Given the description of an element on the screen output the (x, y) to click on. 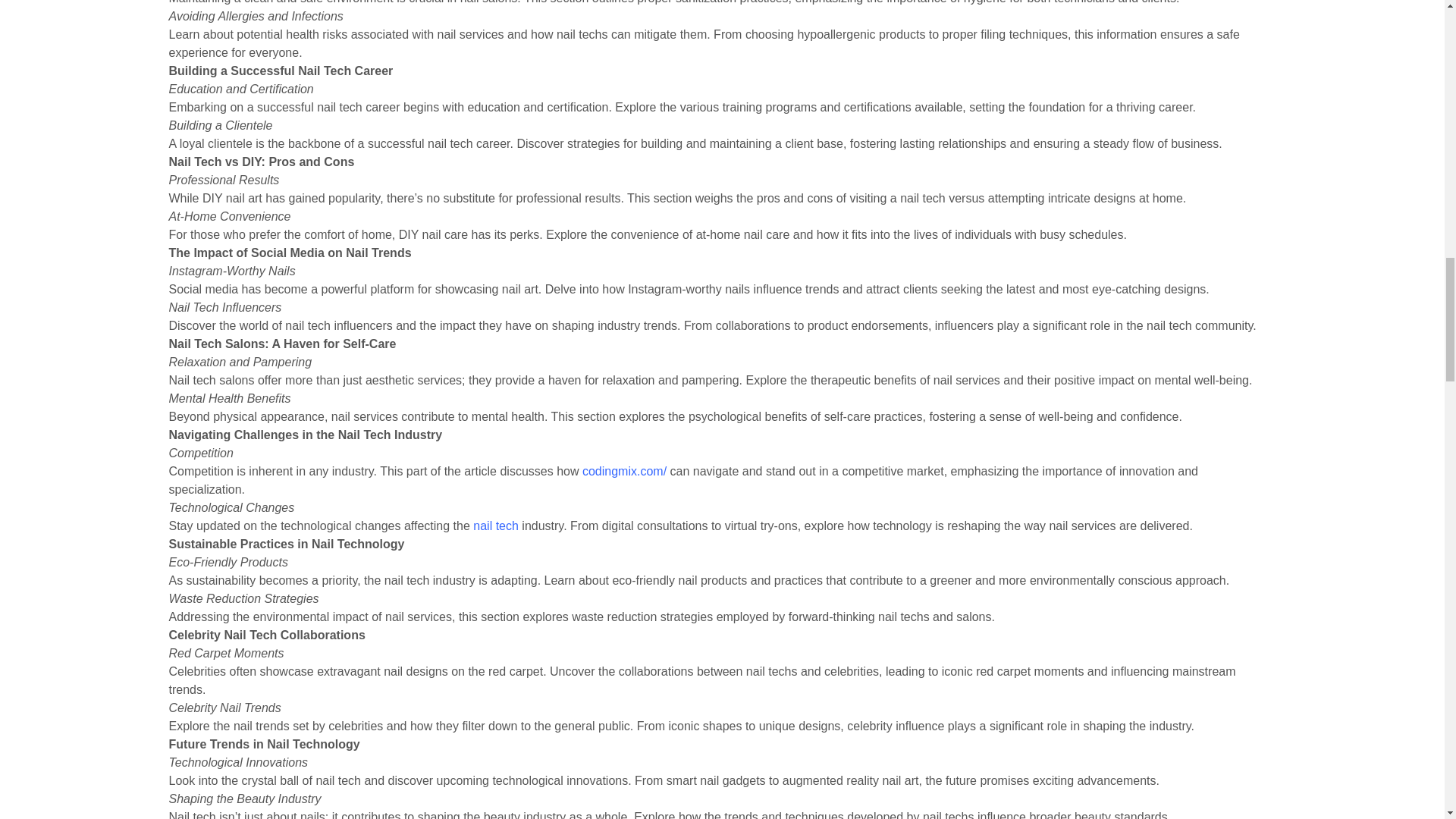
nail tech (495, 525)
